Given the description of an element on the screen output the (x, y) to click on. 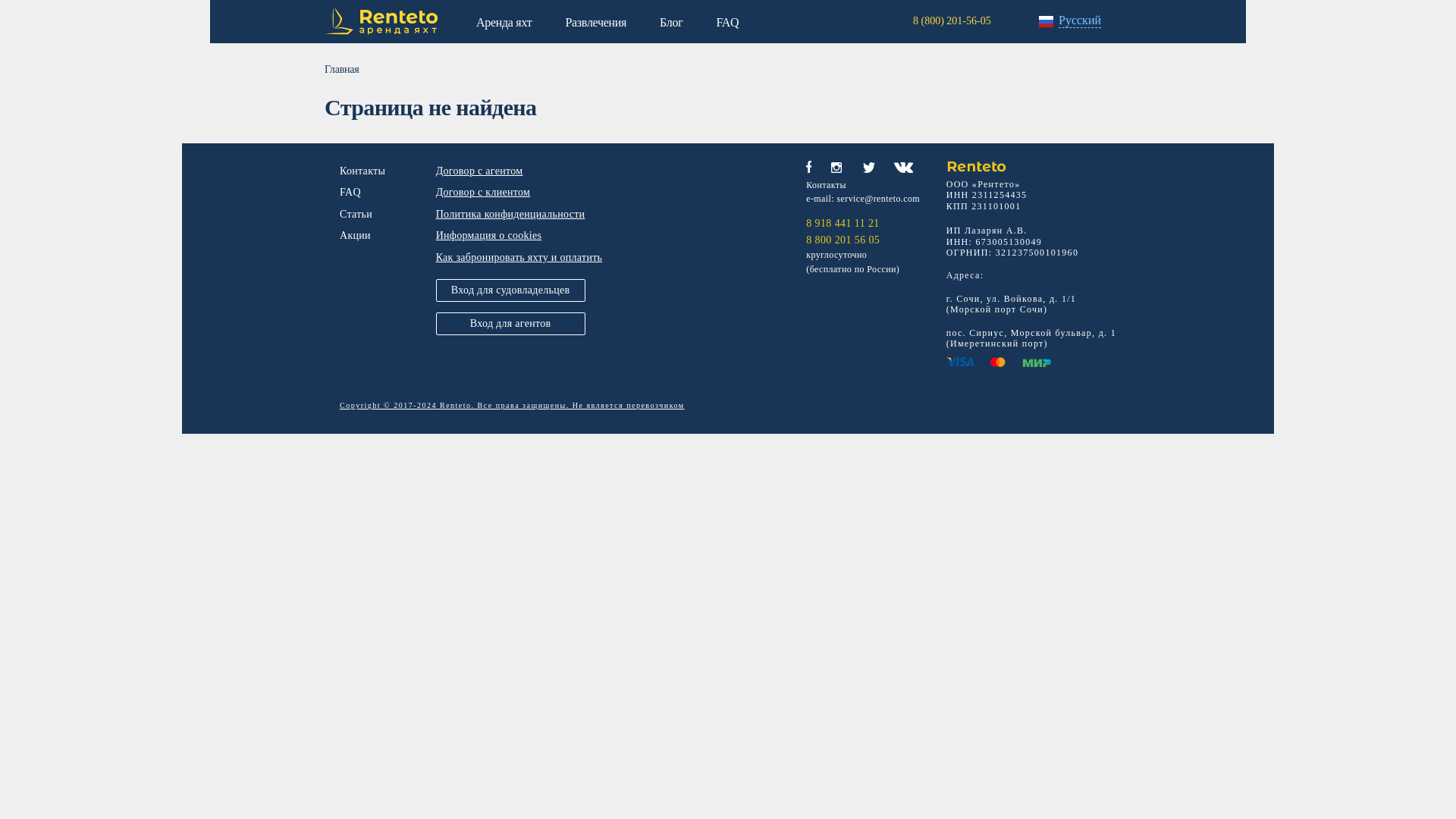
8 918 441 11 21 (863, 223)
FAQ (727, 21)
8 800 201 56 05 (863, 240)
FAQ (350, 192)
